Given the description of an element on the screen output the (x, y) to click on. 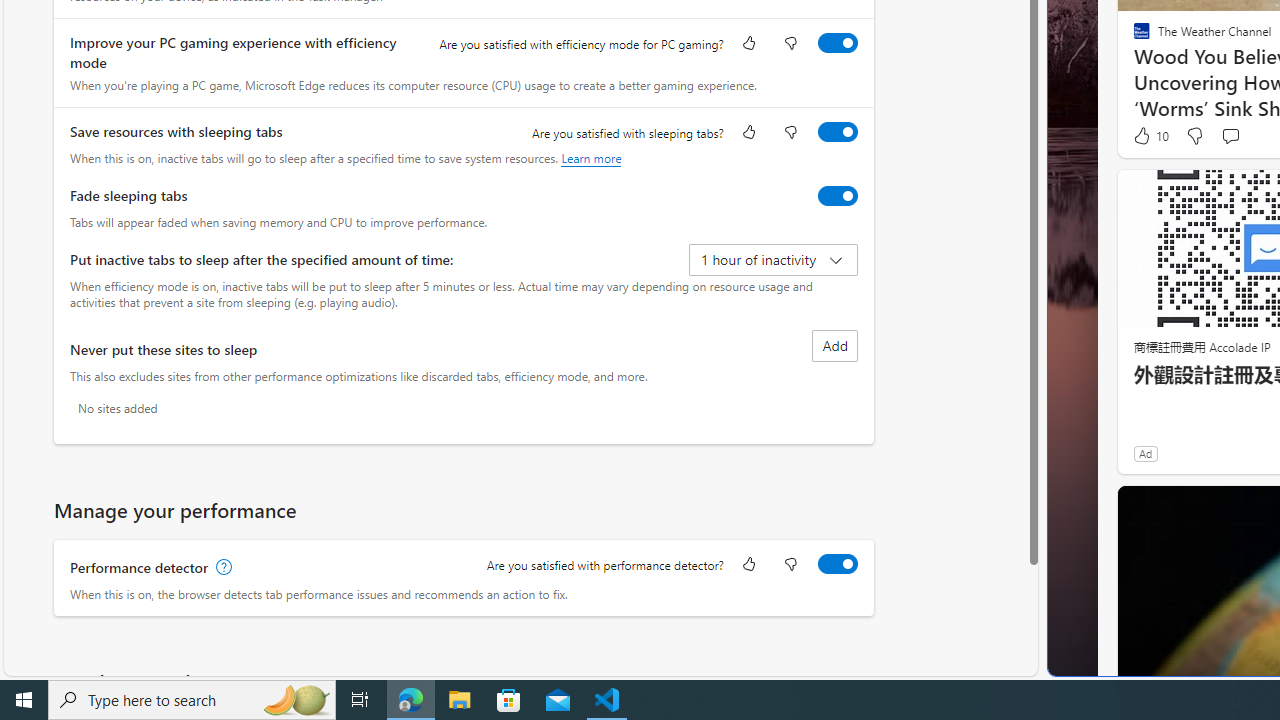
Save resources with sleeping tabs (837, 131)
Fade sleeping tabs (837, 195)
Like (748, 565)
Improve your PC gaming experience with efficiency mode (837, 43)
Add site to never put these sites to sleep list (834, 345)
Learn more (591, 158)
10 Like (1149, 135)
Performance detector, learn more (221, 567)
